Given the description of an element on the screen output the (x, y) to click on. 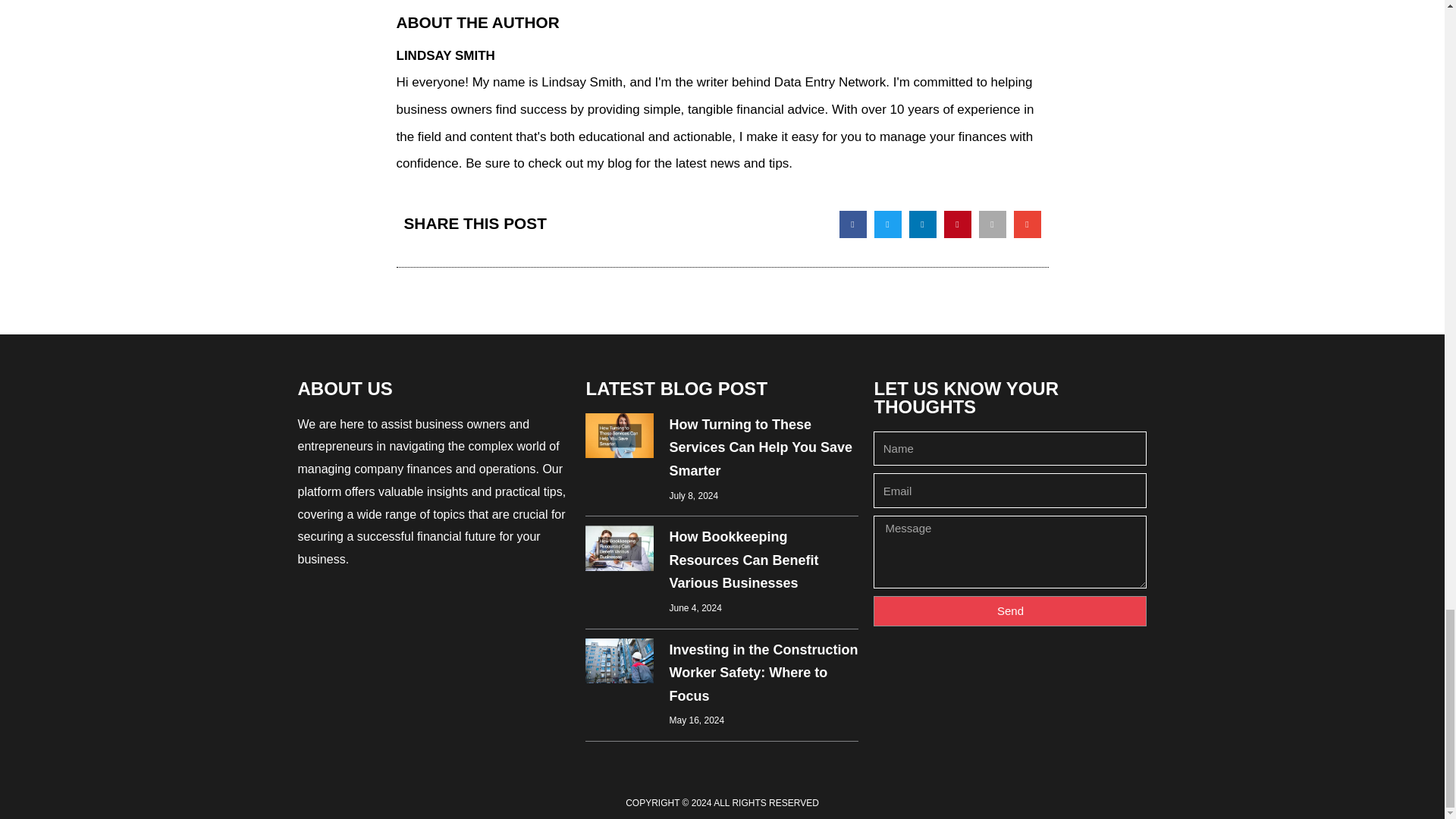
How Bookkeeping Resources Can Benefit Various Businesses (743, 559)
Investing in the Construction Worker Safety: Where to Focus (762, 671)
Send (1010, 611)
How Turning to These Services Can Help You Save Smarter (759, 447)
